Given the description of an element on the screen output the (x, y) to click on. 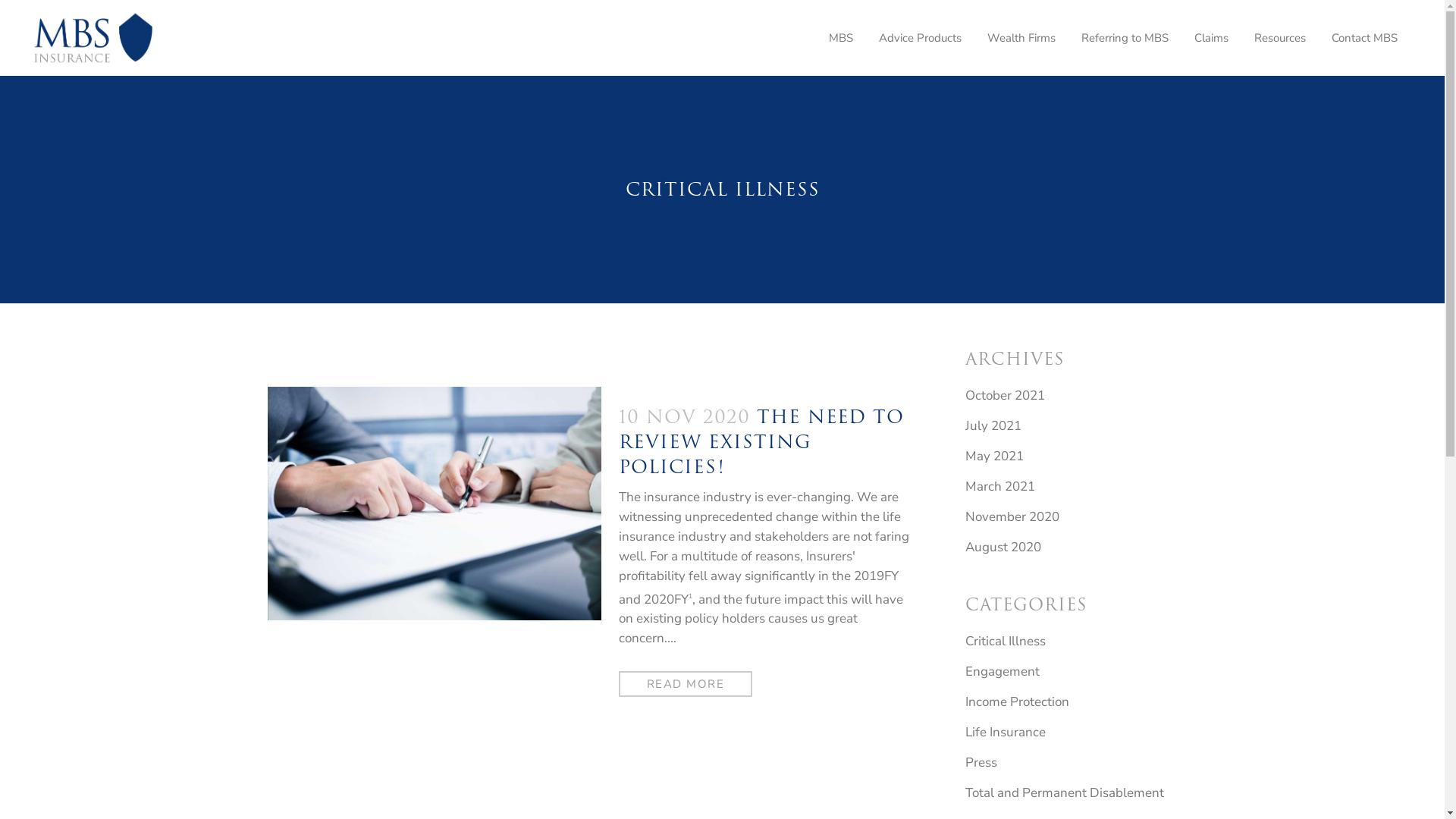
October 2021 Element type: text (1004, 395)
Income Protection Element type: text (1016, 701)
Resources Element type: text (1279, 37)
Wealth Firms Element type: text (1021, 37)
Critical Illness Element type: text (1004, 640)
Life Insurance Element type: text (1004, 731)
The NEED to Review Existing Policies! Element type: hover (433, 503)
July 2021 Element type: text (992, 425)
READ MORE Element type: text (685, 683)
Advice Products Element type: text (920, 37)
Total and Permanent Disablement Element type: text (1063, 792)
November 2020 Element type: text (1011, 516)
Contact MBS Element type: text (1364, 37)
August 2020 Element type: text (1002, 546)
March 2021 Element type: text (999, 486)
Claims Element type: text (1211, 37)
Press Element type: text (980, 762)
THE NEED TO REVIEW EXISTING POLICIES! Element type: text (760, 441)
Engagement Element type: text (1001, 671)
May 2021 Element type: text (993, 455)
Referring to MBS Element type: text (1124, 37)
MBS Element type: text (840, 37)
